Given the description of an element on the screen output the (x, y) to click on. 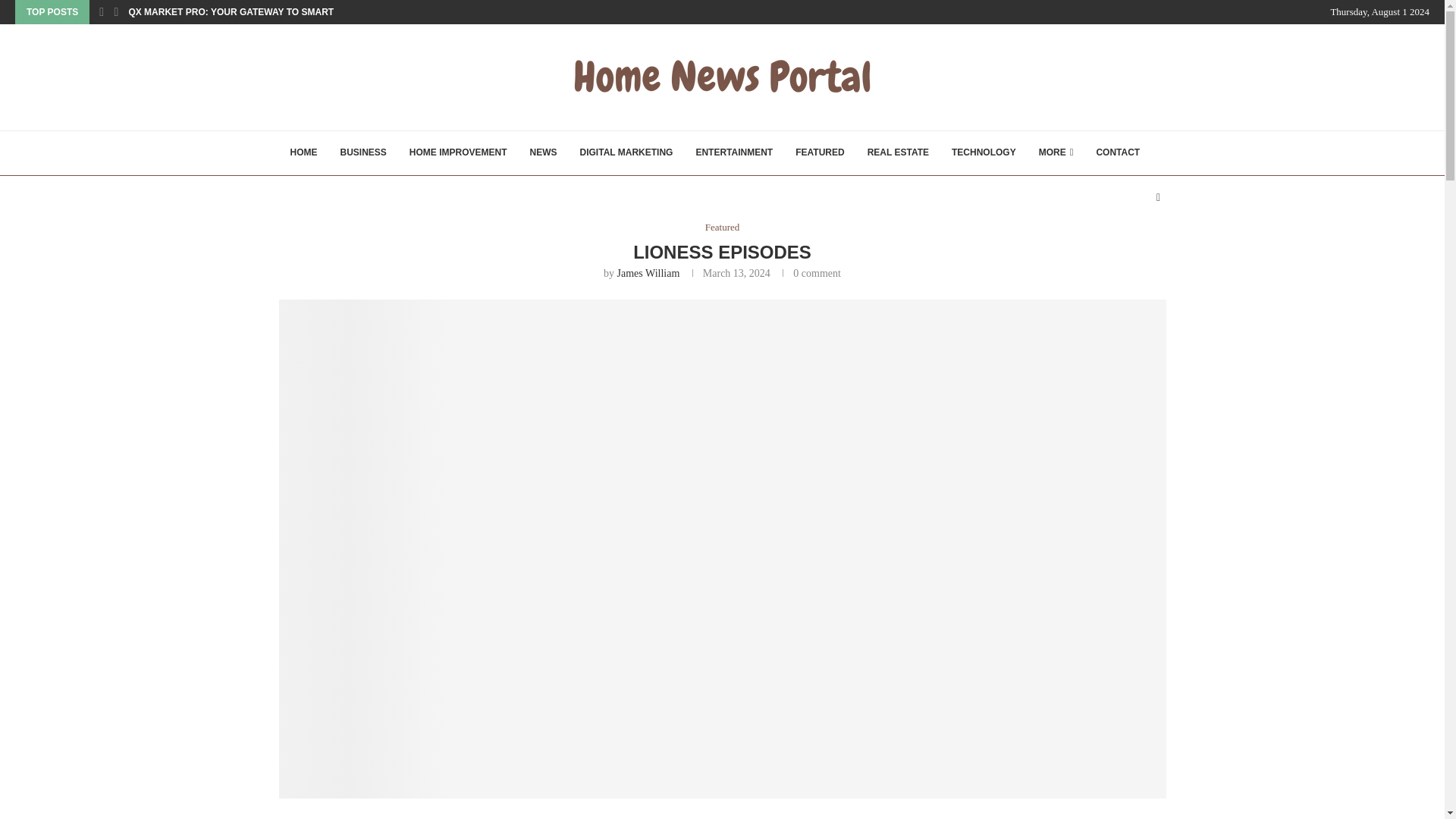
HOME (304, 153)
MORE (1055, 153)
DIGITAL MARKETING (626, 153)
REAL ESTATE (898, 153)
HOME IMPROVEMENT (457, 153)
ENTERTAINMENT (734, 153)
NEWS (543, 153)
TECHNOLOGY (983, 153)
BUSINESS (363, 153)
FEATURED (820, 153)
QX MARKET PRO: YOUR GATEWAY TO SMART TRADING (252, 12)
